Given the description of an element on the screen output the (x, y) to click on. 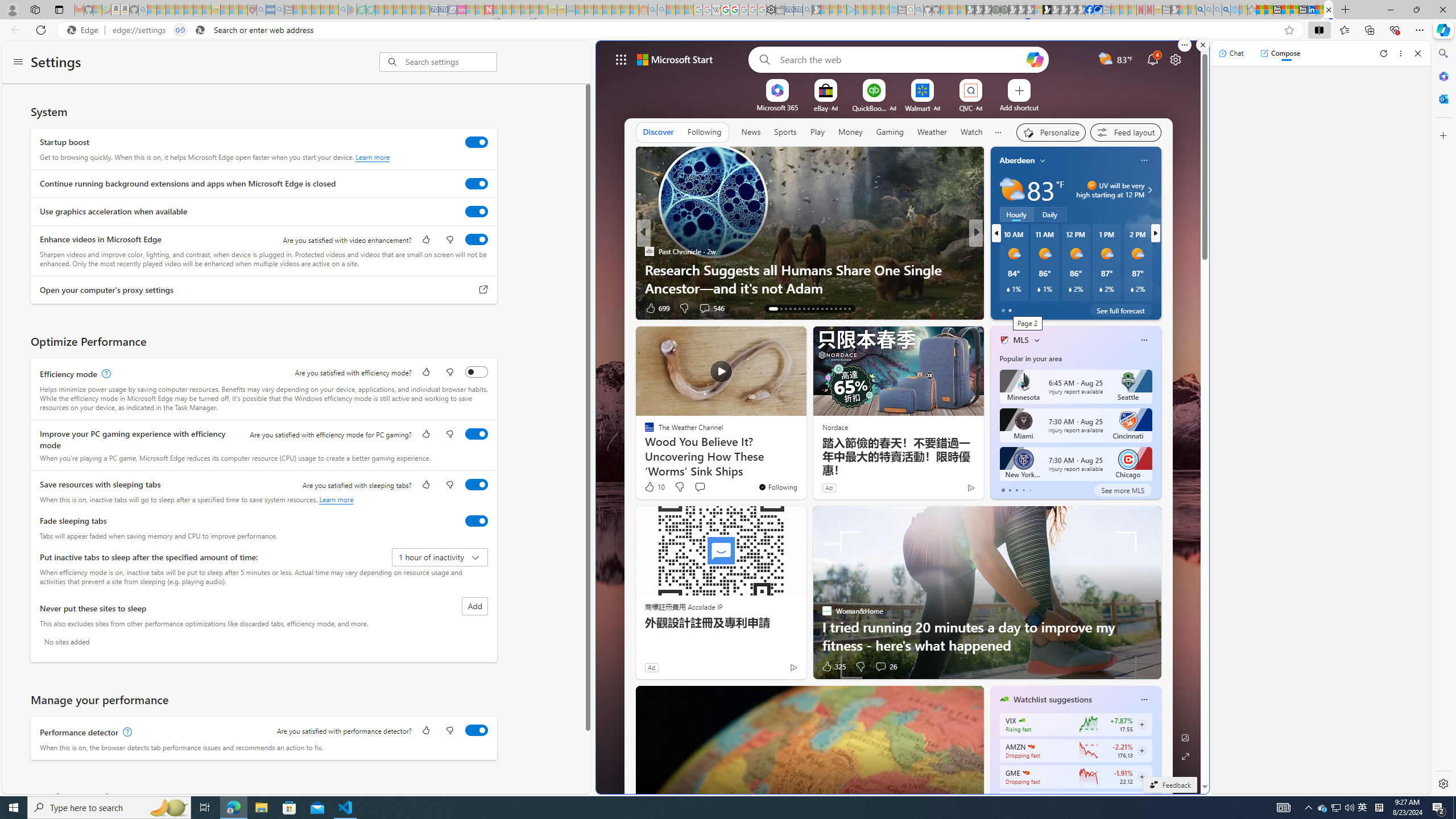
UV will be very high starting at 12 PM (1147, 189)
3k Like (1005, 307)
Forge of Empires (1020, 269)
Partly sunny (1011, 189)
Microsoft start (674, 59)
My location (1042, 160)
Use graphics acceleration when available (476, 211)
utah sues federal government - Search - Sleeping (279, 9)
Efficiency mode, learn more (104, 374)
Watch (971, 131)
